Given the description of an element on the screen output the (x, y) to click on. 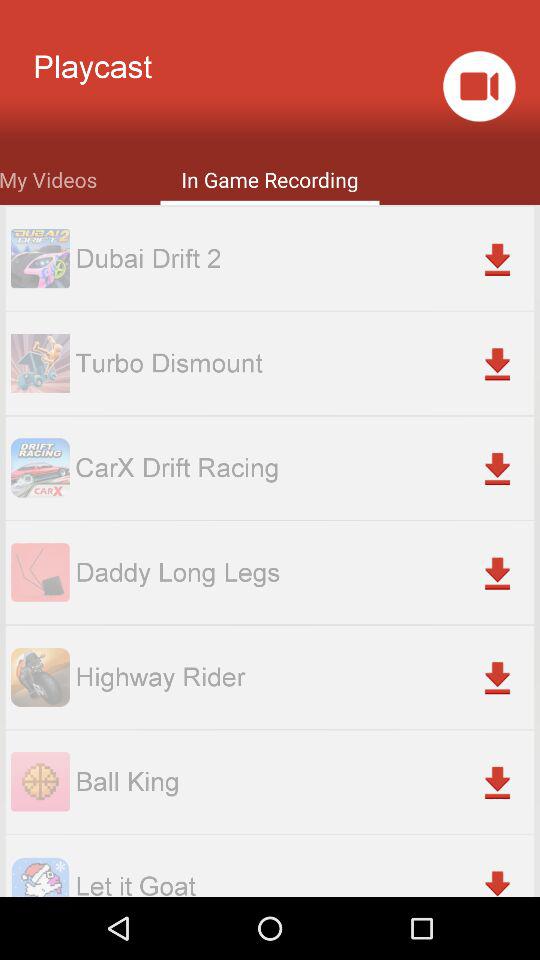
open daddy long legs item (304, 572)
